Given the description of an element on the screen output the (x, y) to click on. 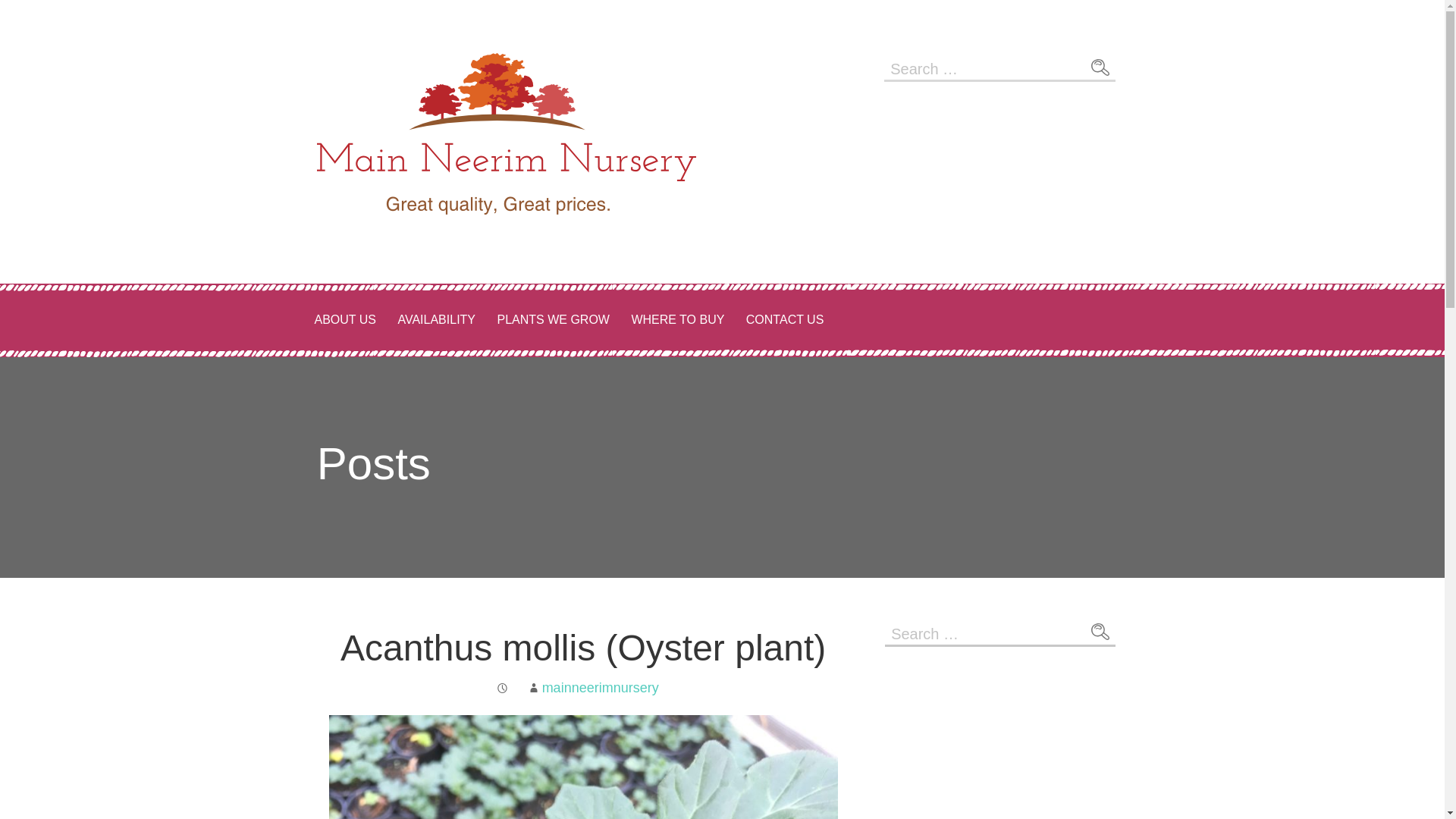
Search (1099, 67)
mainneerimnursery (600, 687)
Search (1099, 67)
Search (1099, 631)
AVAILABILITY (436, 320)
WHERE TO BUY (677, 320)
Search (1099, 67)
ABOUT US (344, 320)
Search (1099, 631)
Search (1099, 631)
Posts by mainneerimnursery (600, 687)
CONTACT US (784, 320)
PLANTS WE GROW (552, 320)
